Given the description of an element on the screen output the (x, y) to click on. 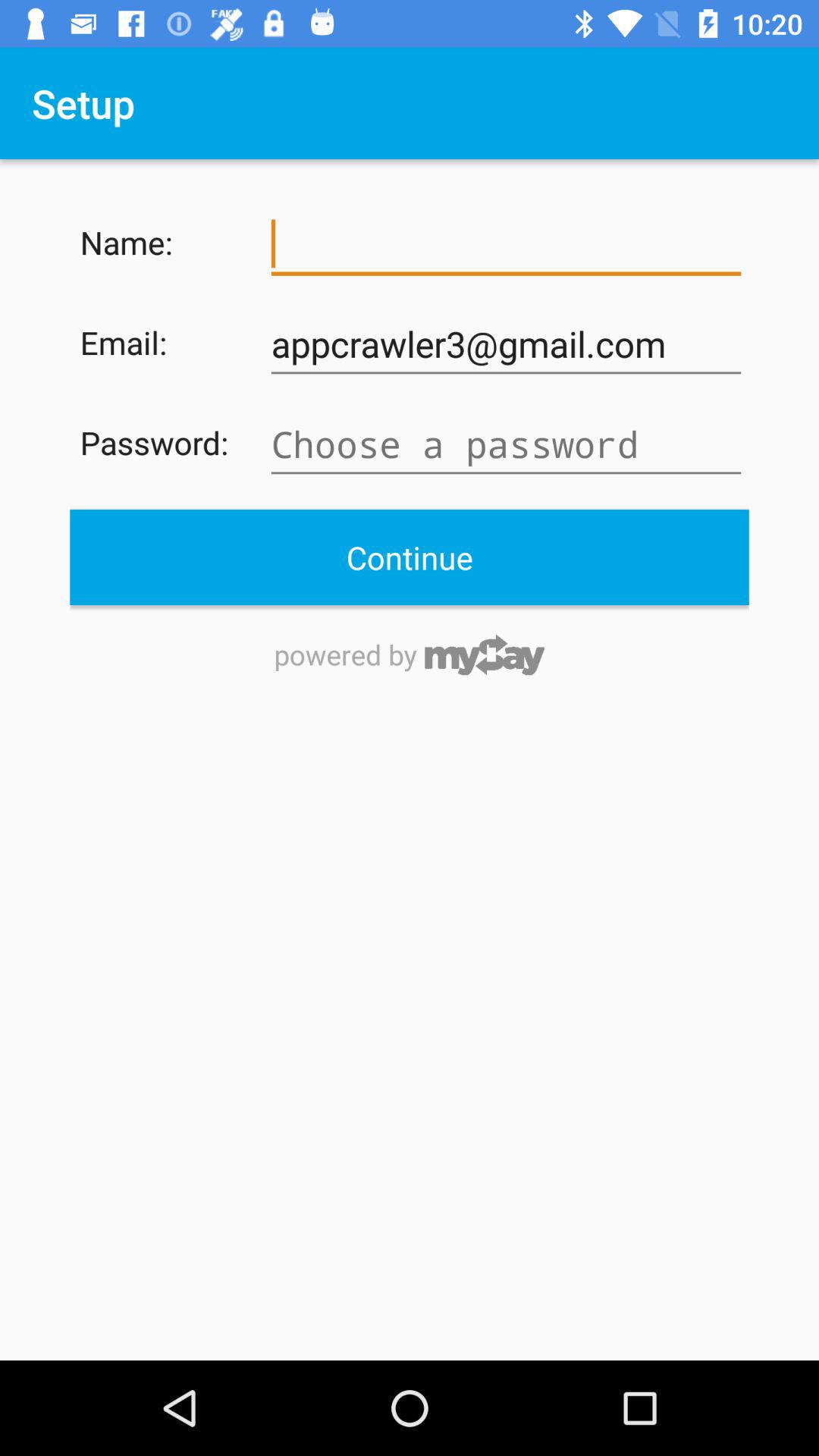
open icon below appcrawler3@gmail.com icon (506, 444)
